Given the description of an element on the screen output the (x, y) to click on. 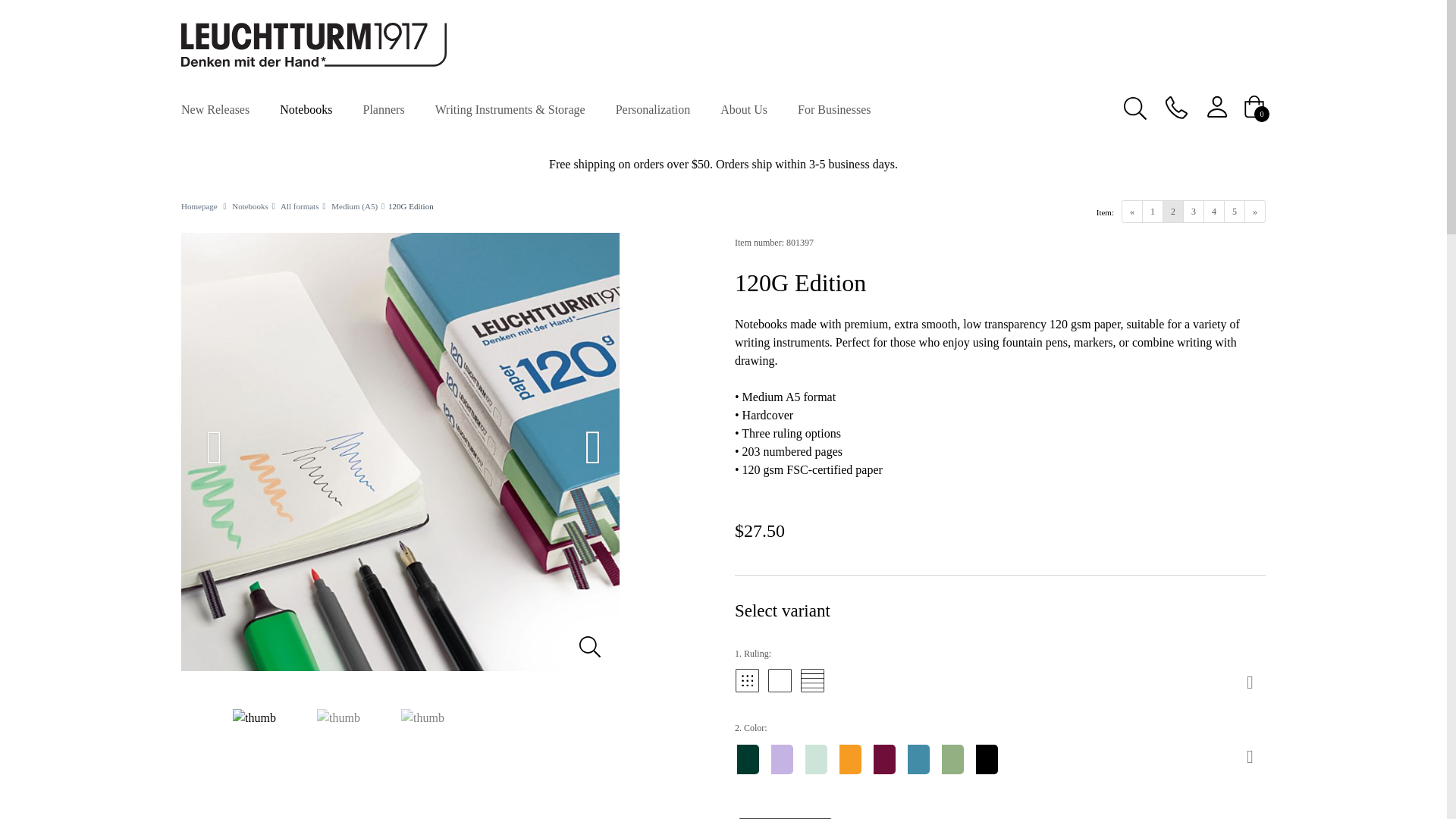
Notebooks (308, 108)
New Releases (218, 108)
Notebooks (308, 108)
New Releases (218, 108)
LEUCHTTURM1917 (313, 44)
